Given the description of an element on the screen output the (x, y) to click on. 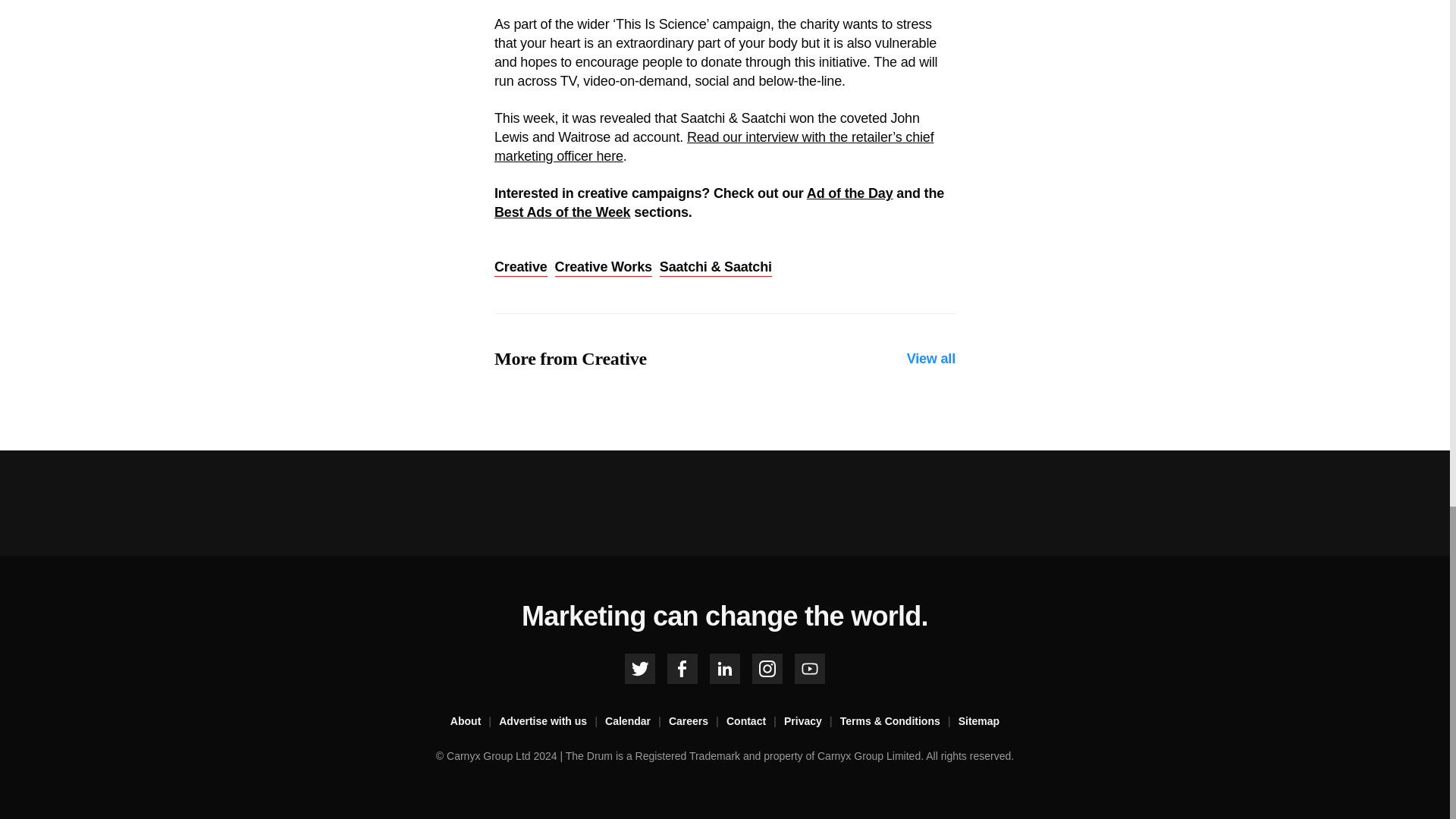
Advertise with us (552, 721)
Creative Works (603, 267)
About (474, 721)
Calendar (636, 721)
Creative (521, 267)
Best Ads of the Week (562, 212)
Careers (697, 721)
Contact (755, 721)
View all (931, 358)
Privacy (812, 721)
